Given the description of an element on the screen output the (x, y) to click on. 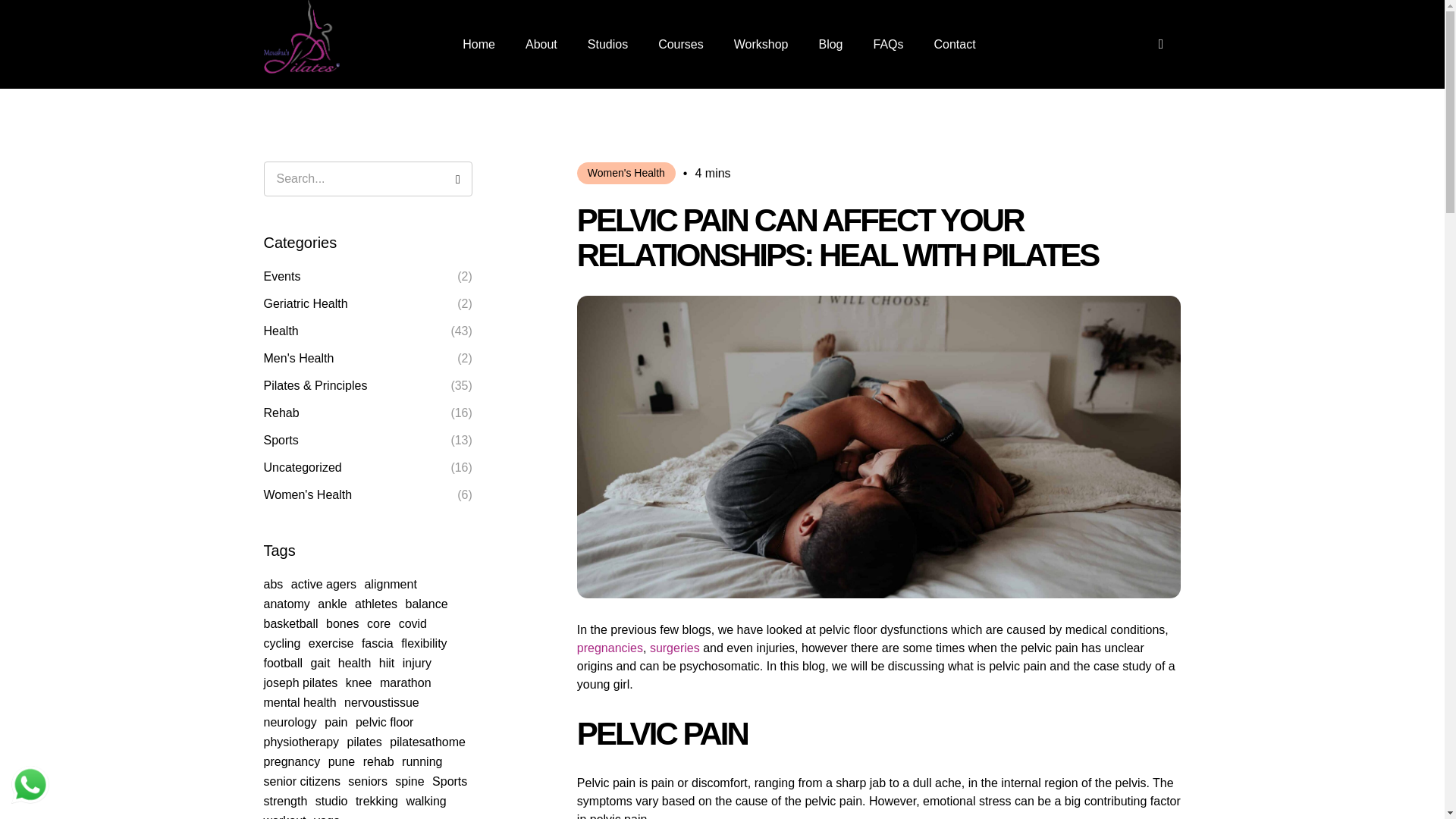
WhatsApp us (30, 784)
Blog (830, 43)
Contact (954, 43)
Courses (680, 43)
FAQs (887, 43)
Workshop (761, 43)
Home (479, 43)
About (541, 43)
Studios (607, 43)
